Given the description of an element on the screen output the (x, y) to click on. 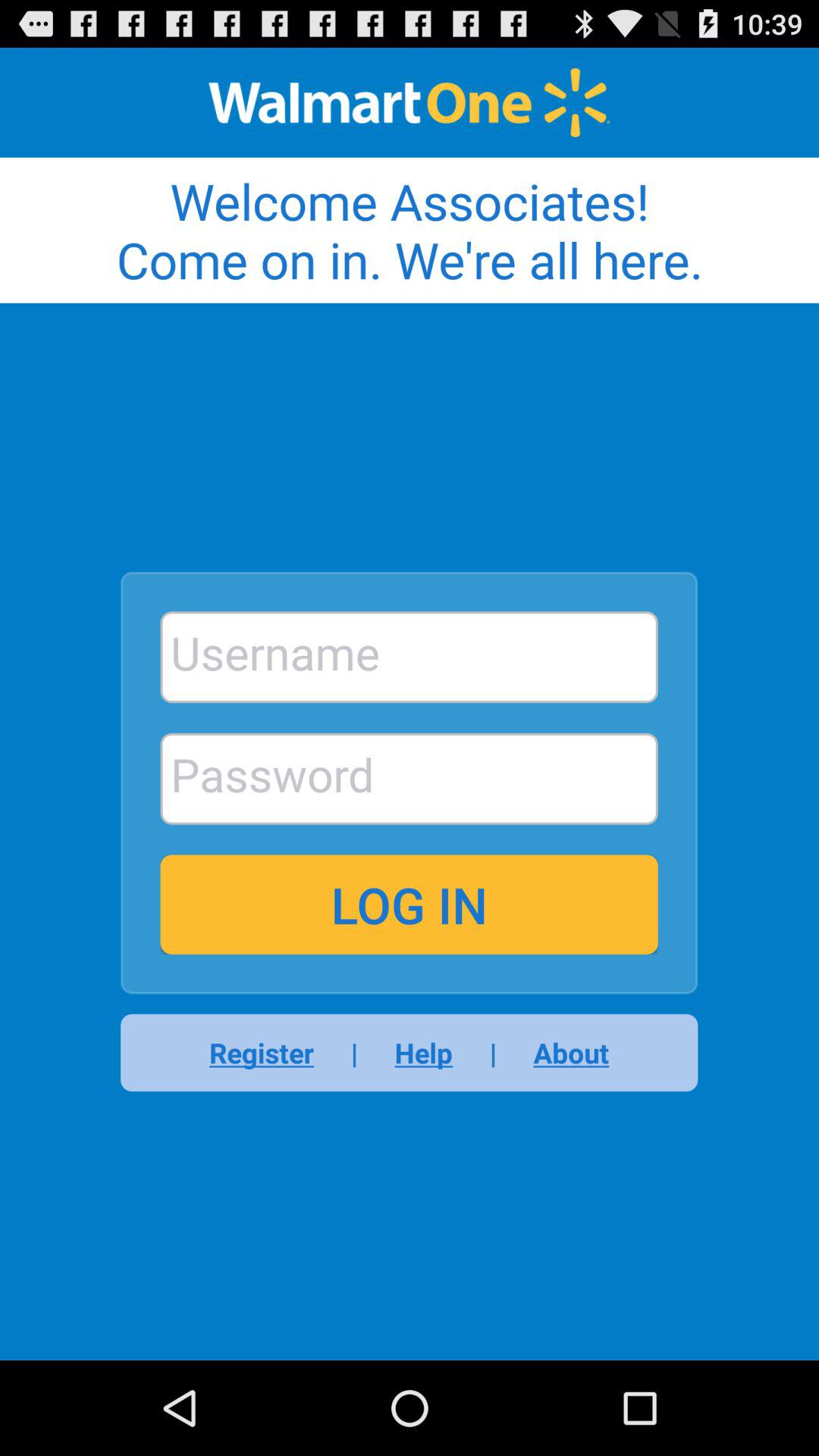
turn off the icon to the right of the | item (423, 1052)
